Given the description of an element on the screen output the (x, y) to click on. 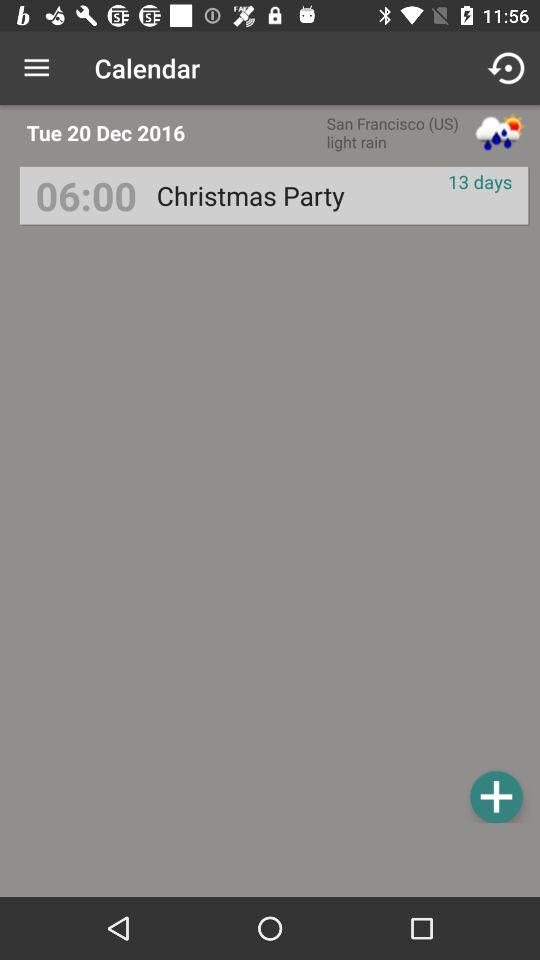
jump until 06:00 item (85, 195)
